Given the description of an element on the screen output the (x, y) to click on. 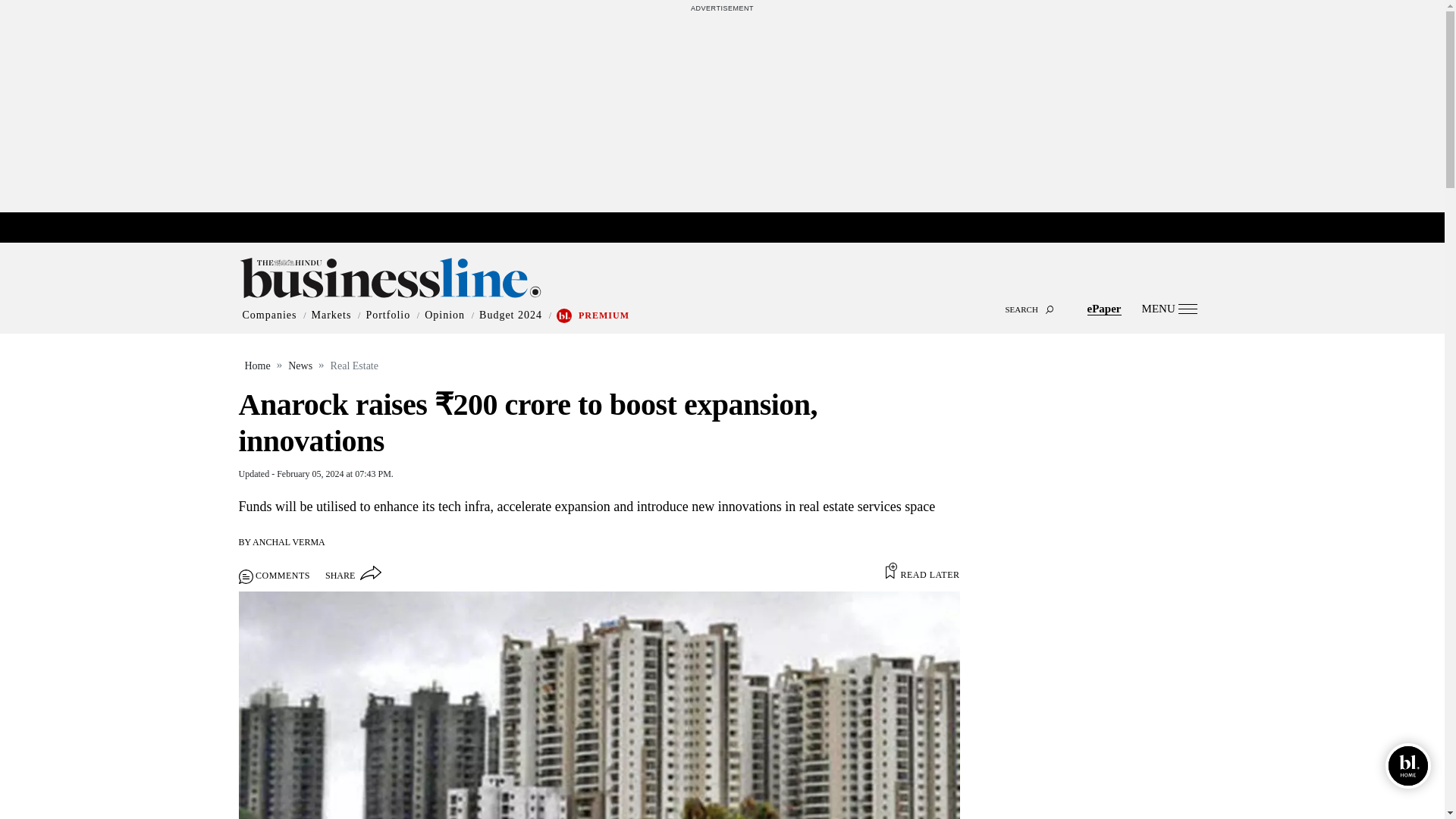
Opinion (444, 315)
Companies (270, 315)
SEARCH (721, 295)
marketupdate (729, 228)
MENU (1168, 308)
Markets (330, 315)
PREMIUM (603, 315)
ePaper (1104, 308)
Budget 2024 (510, 315)
Portfolio (387, 315)
